Given the description of an element on the screen output the (x, y) to click on. 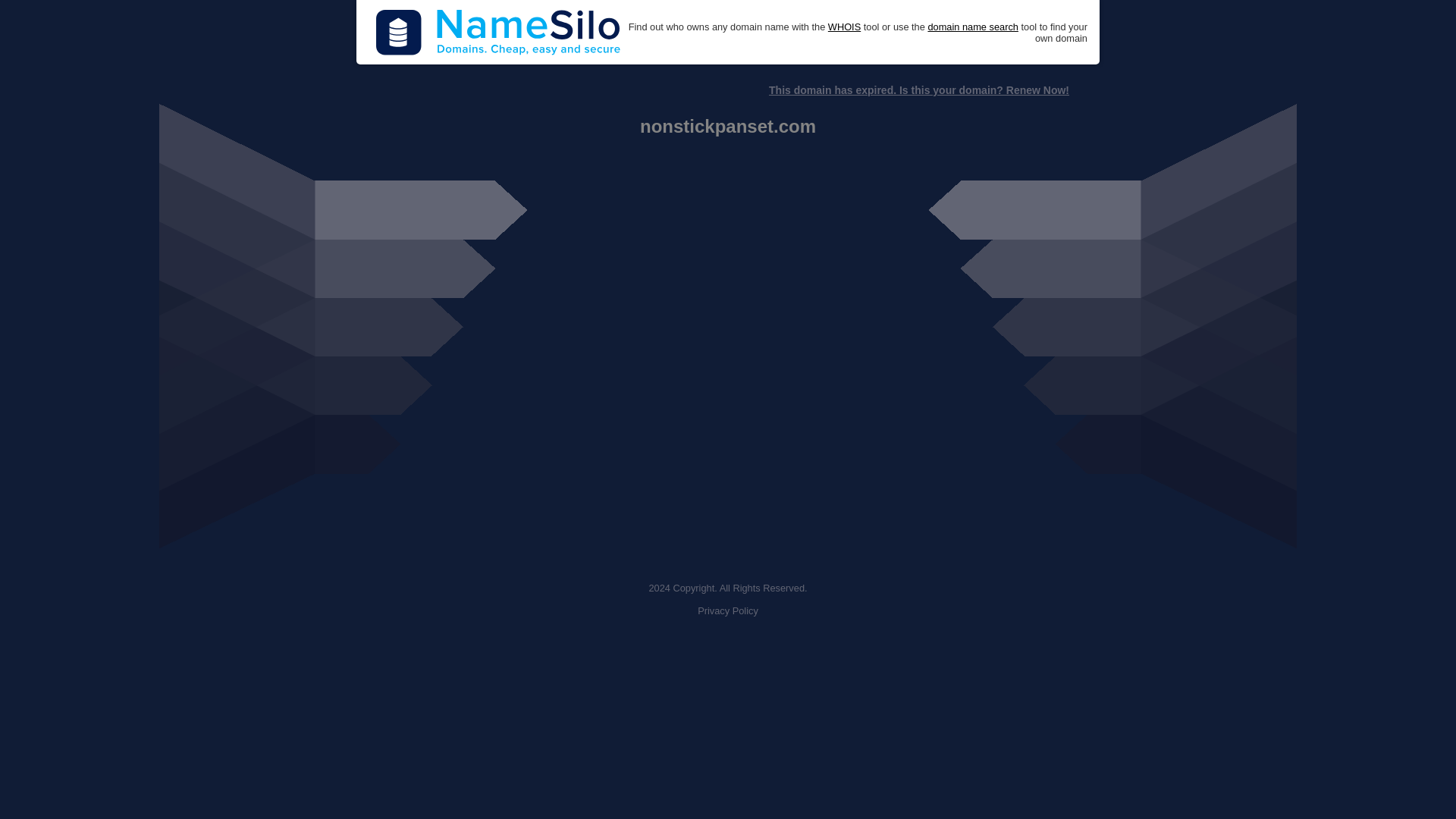
This domain has expired. Is this your domain? Renew Now! (918, 90)
Privacy Policy (727, 610)
domain name search (972, 26)
WHOIS (844, 26)
